Given the description of an element on the screen output the (x, y) to click on. 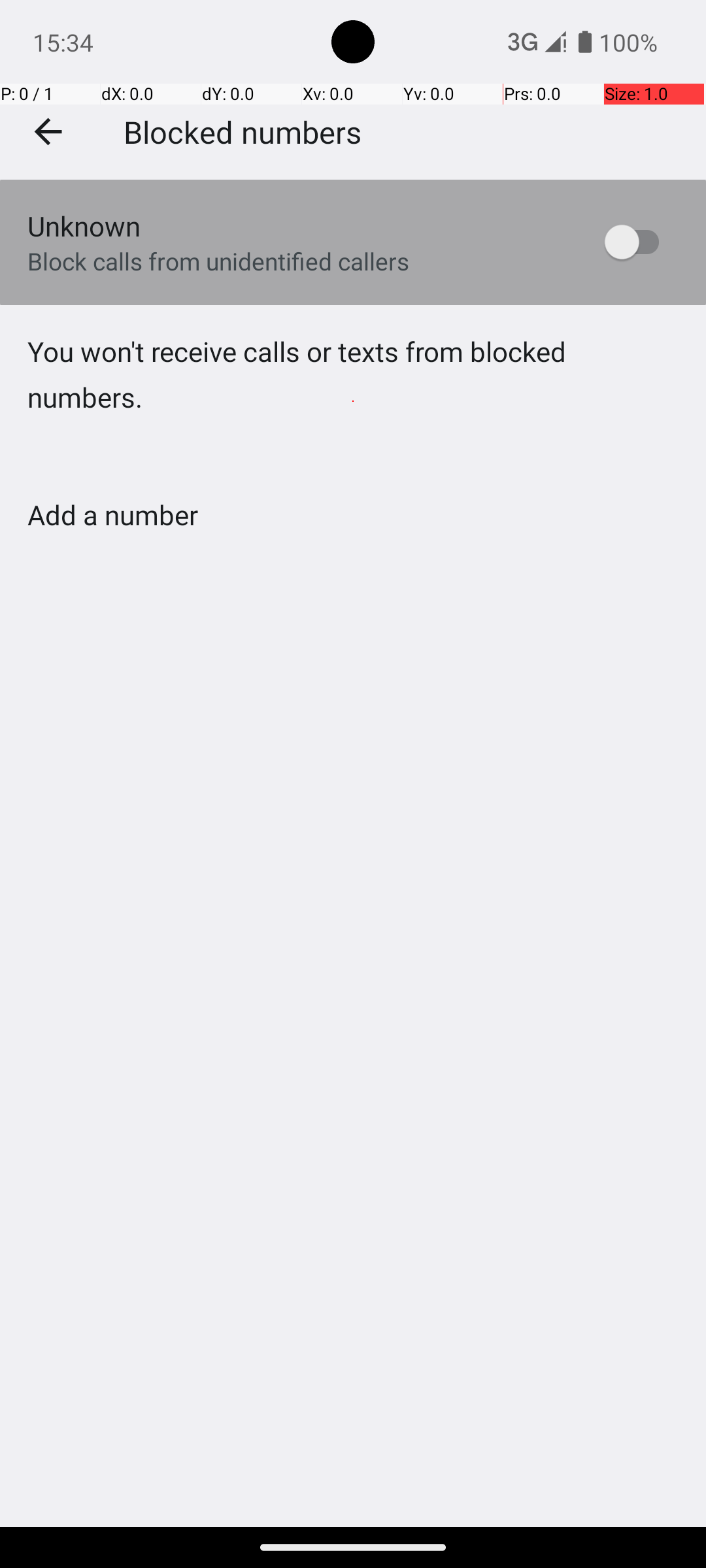
Blocked numbers Element type: android.widget.TextView (242, 131)
You won't receive calls or texts from blocked numbers. Element type: android.widget.TextView (352, 401)
Add a number Element type: android.widget.TextView (112, 514)
Unknown Element type: android.widget.TextView (83, 225)
Block calls from unidentified callers Element type: android.widget.TextView (218, 260)
